Given the description of an element on the screen output the (x, y) to click on. 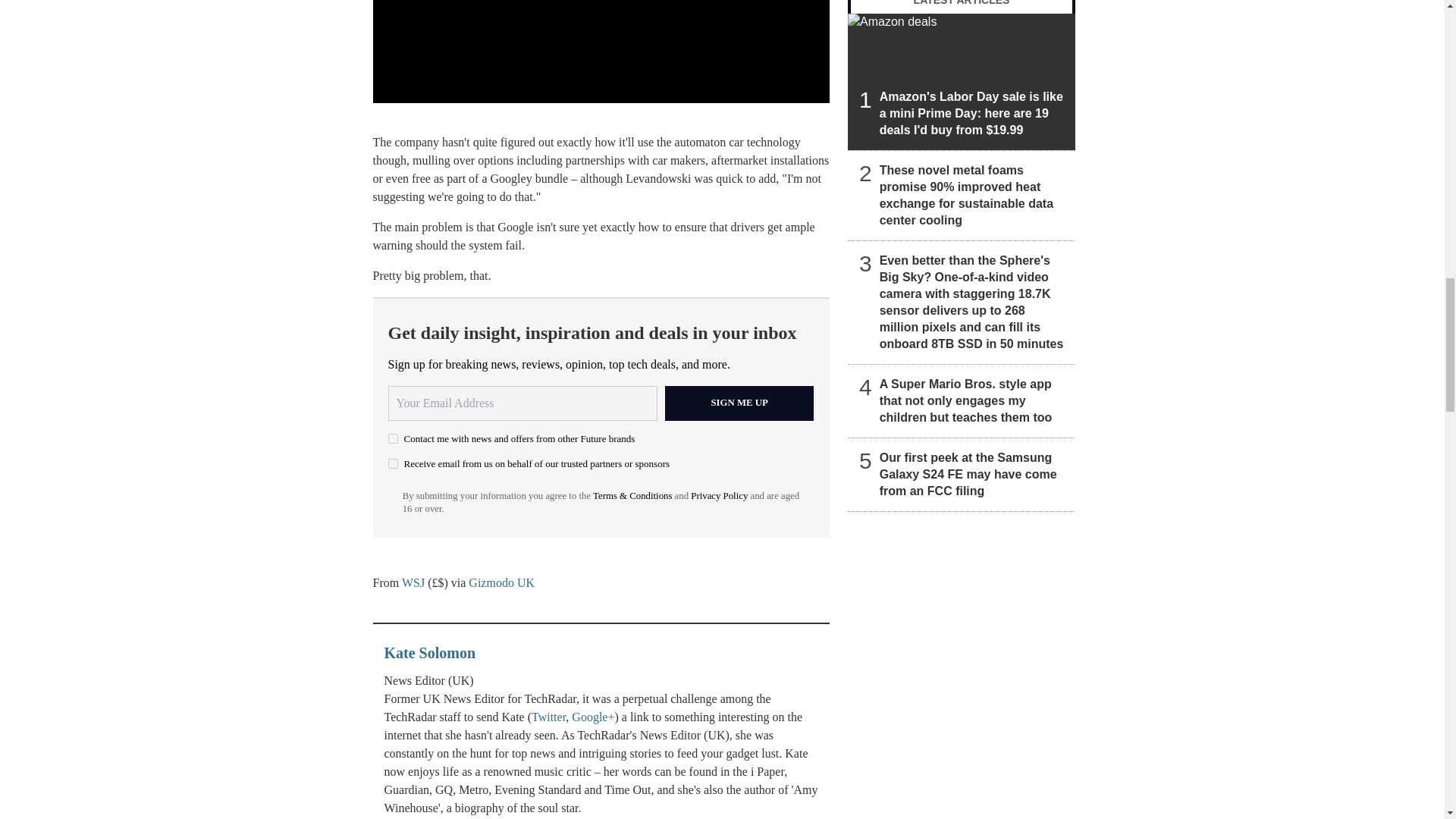
Sign me up (739, 402)
on (392, 438)
on (392, 463)
